Given the description of an element on the screen output the (x, y) to click on. 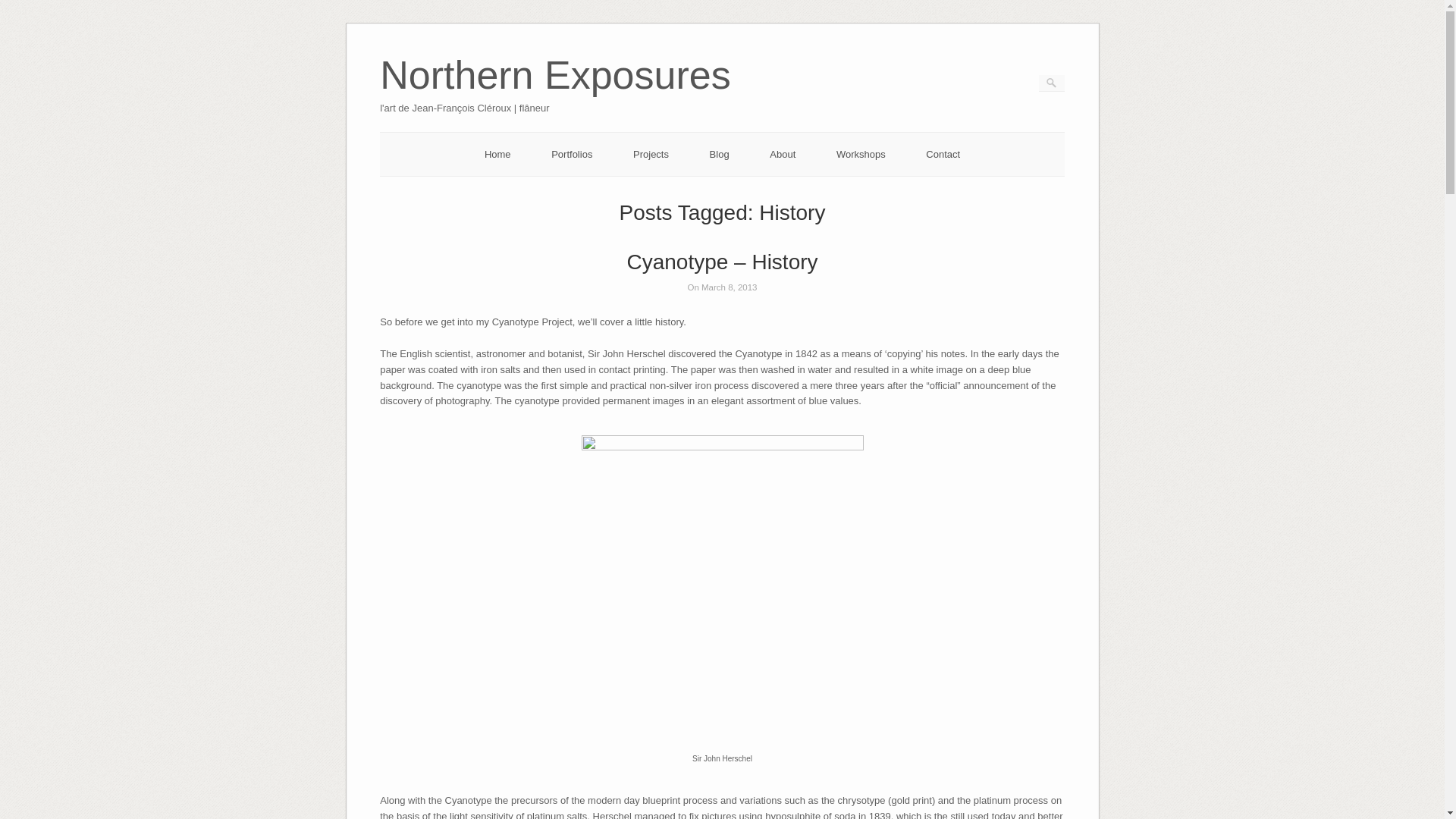
Blog (719, 153)
Projects (650, 153)
Contact (942, 153)
Search (21, 7)
About (782, 153)
Workshops (860, 153)
Portfolios (571, 153)
Home (497, 153)
